Given the description of an element on the screen output the (x, y) to click on. 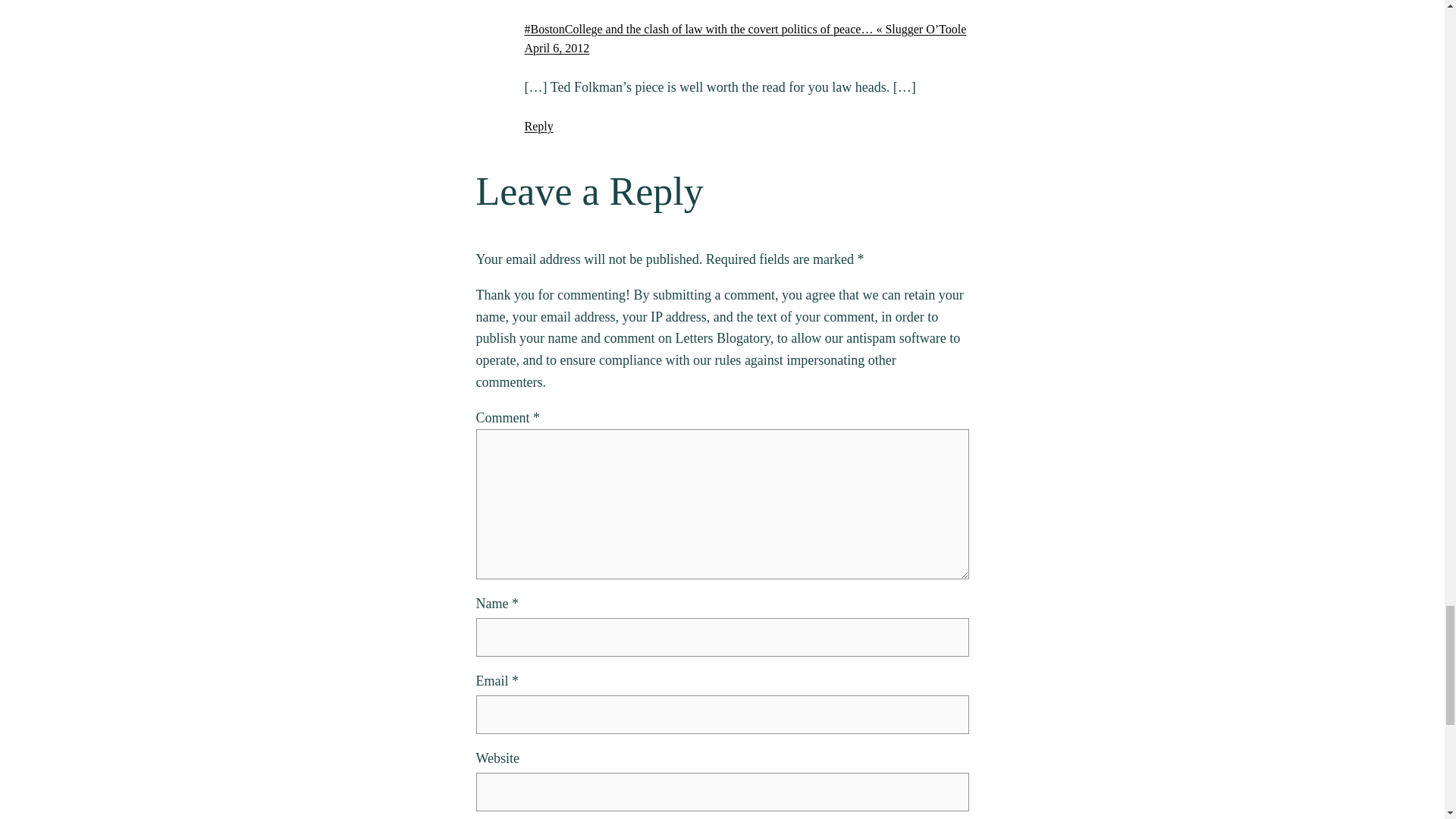
April 6, 2012 (556, 47)
Reply (538, 125)
